Given the description of an element on the screen output the (x, y) to click on. 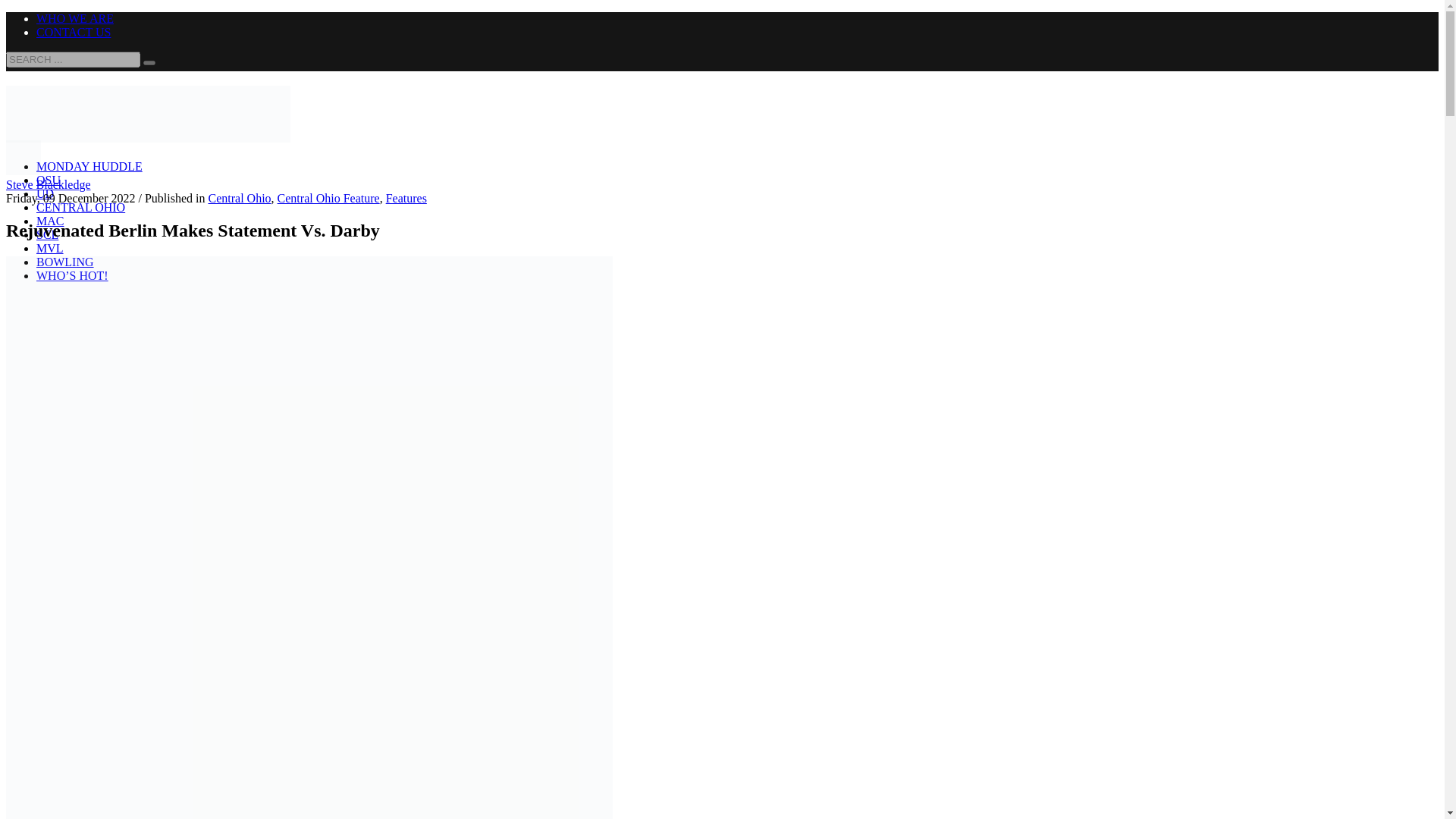
Central Ohio (239, 197)
OSU (48, 179)
MONDAY HUDDLE (89, 165)
WHO WE ARE (74, 18)
MAC (50, 220)
SCL (47, 234)
CENTRAL OHIO (80, 206)
go (148, 62)
Posts by Steve Blackledge (47, 184)
BOWLING (65, 261)
